Given the description of an element on the screen output the (x, y) to click on. 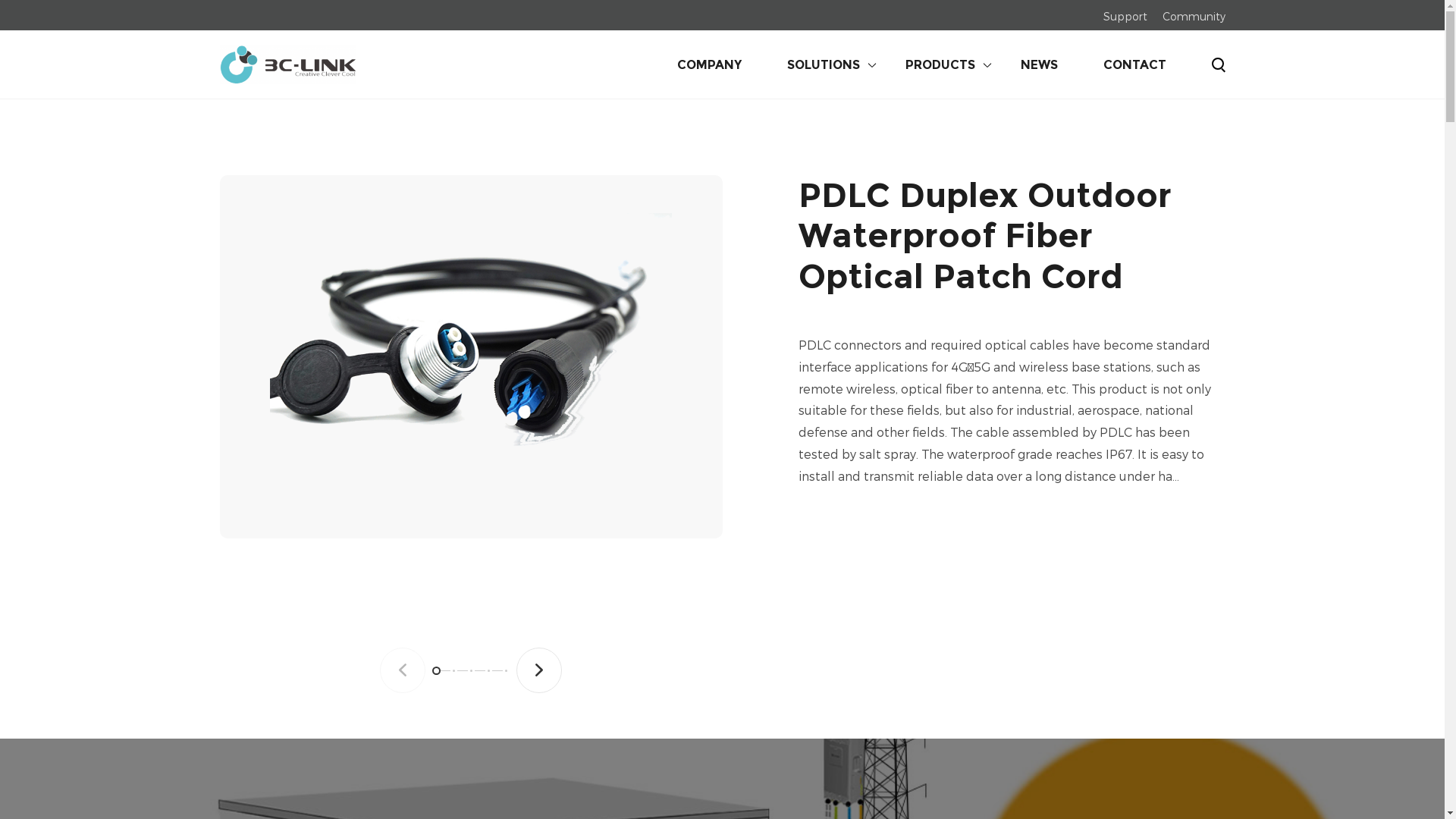
COMPANY Element type: text (685, 64)
CONTACT Element type: text (1111, 64)
SOLUTIONS Element type: text (800, 64)
NEWS Element type: text (1016, 64)
Community Element type: text (1192, 15)
PRODUCTS Element type: text (917, 64)
Support Element type: text (1124, 15)
